Given the description of an element on the screen output the (x, y) to click on. 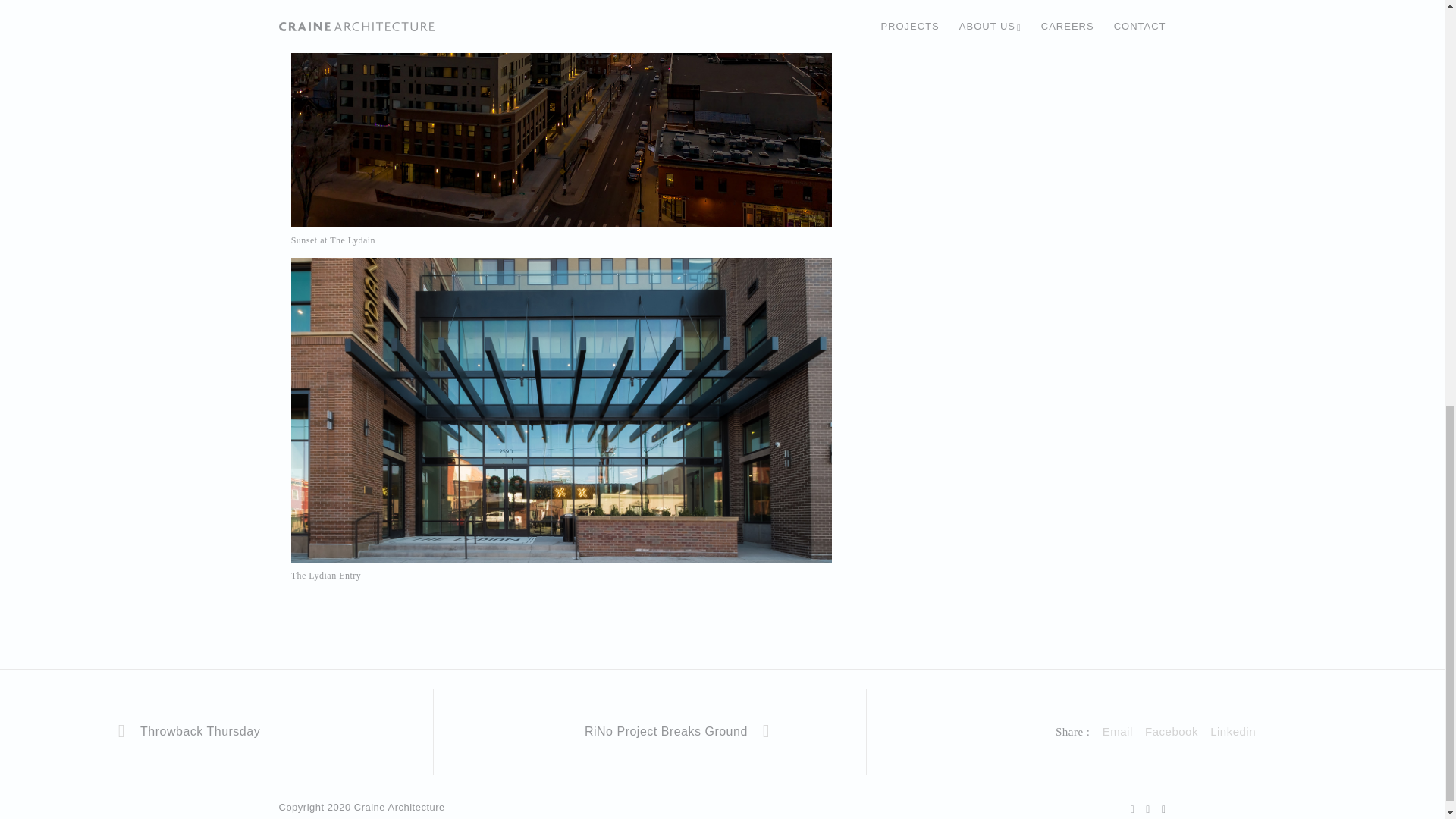
RiNo Project Breaks Ground (649, 731)
2018 Downtown Denver Award Winner! (1117, 731)
2018 Downtown Denver Award Winner! (1171, 731)
Linkedin (1232, 731)
Throwback Thursday (216, 731)
Facebook (1171, 731)
Email (1117, 731)
2018 Downtown Denver Award Winner! (1232, 731)
